Given the description of an element on the screen output the (x, y) to click on. 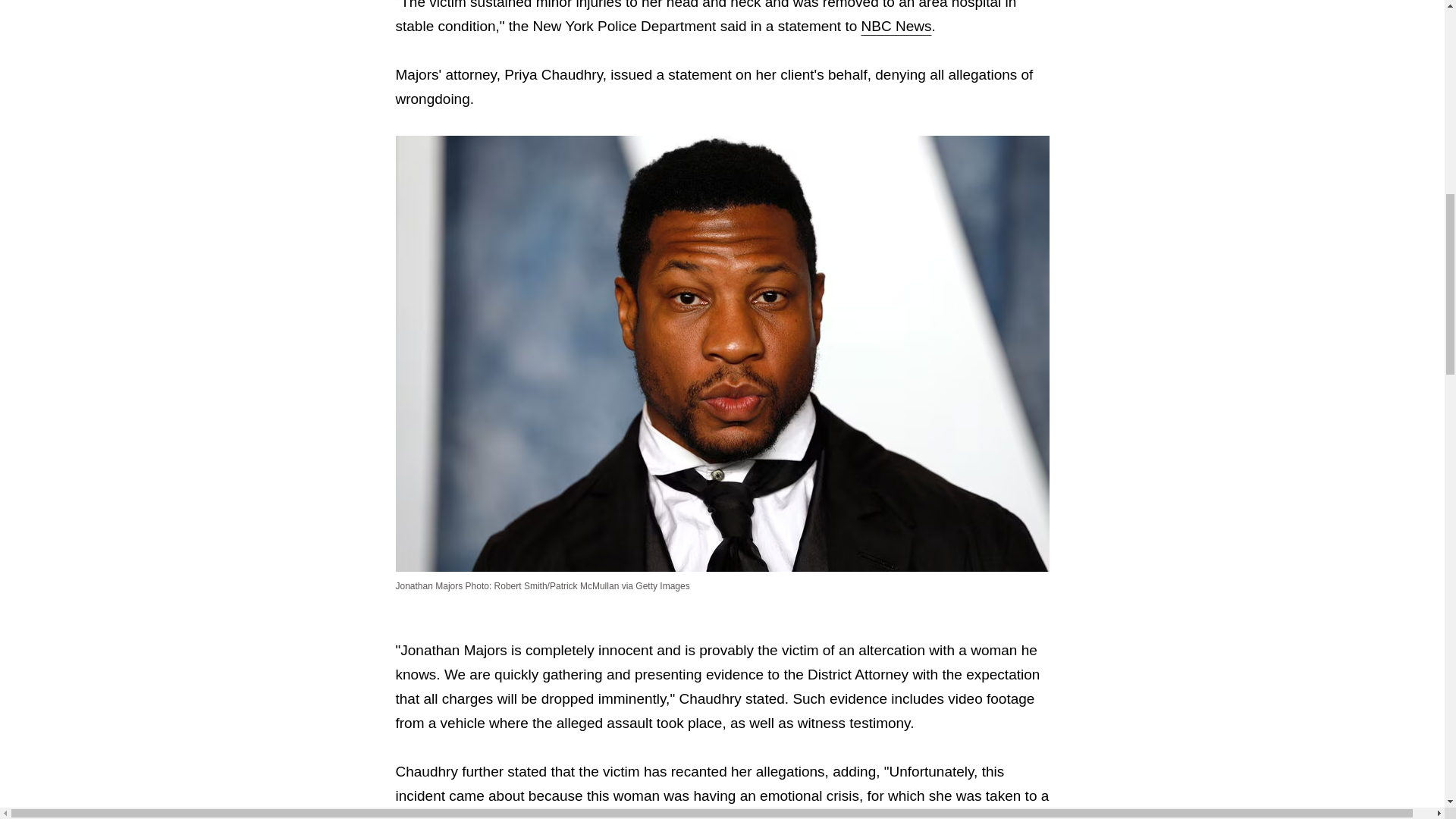
NBC News (896, 26)
